Given the description of an element on the screen output the (x, y) to click on. 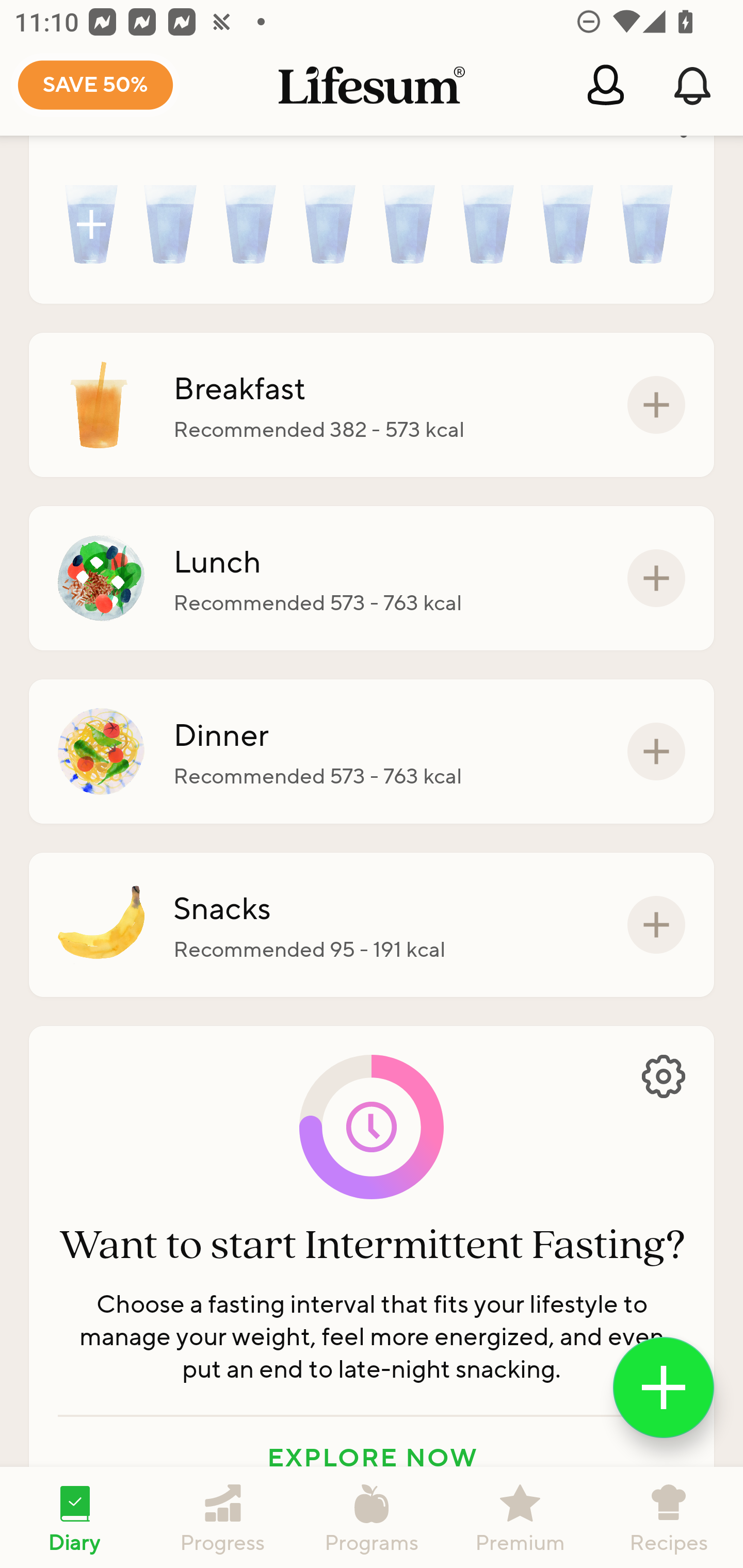
Breakfast Recommended 382 - 573 kcal (371, 404)
Lunch Recommended 573 - 763 kcal (371, 578)
Dinner Recommended 573 - 763 kcal (371, 750)
Snacks Recommended 95 - 191 kcal (371, 924)
EXPLORE NOW (371, 1457)
Progress (222, 1517)
Programs (371, 1517)
Premium (519, 1517)
Recipes (668, 1517)
